Given the description of an element on the screen output the (x, y) to click on. 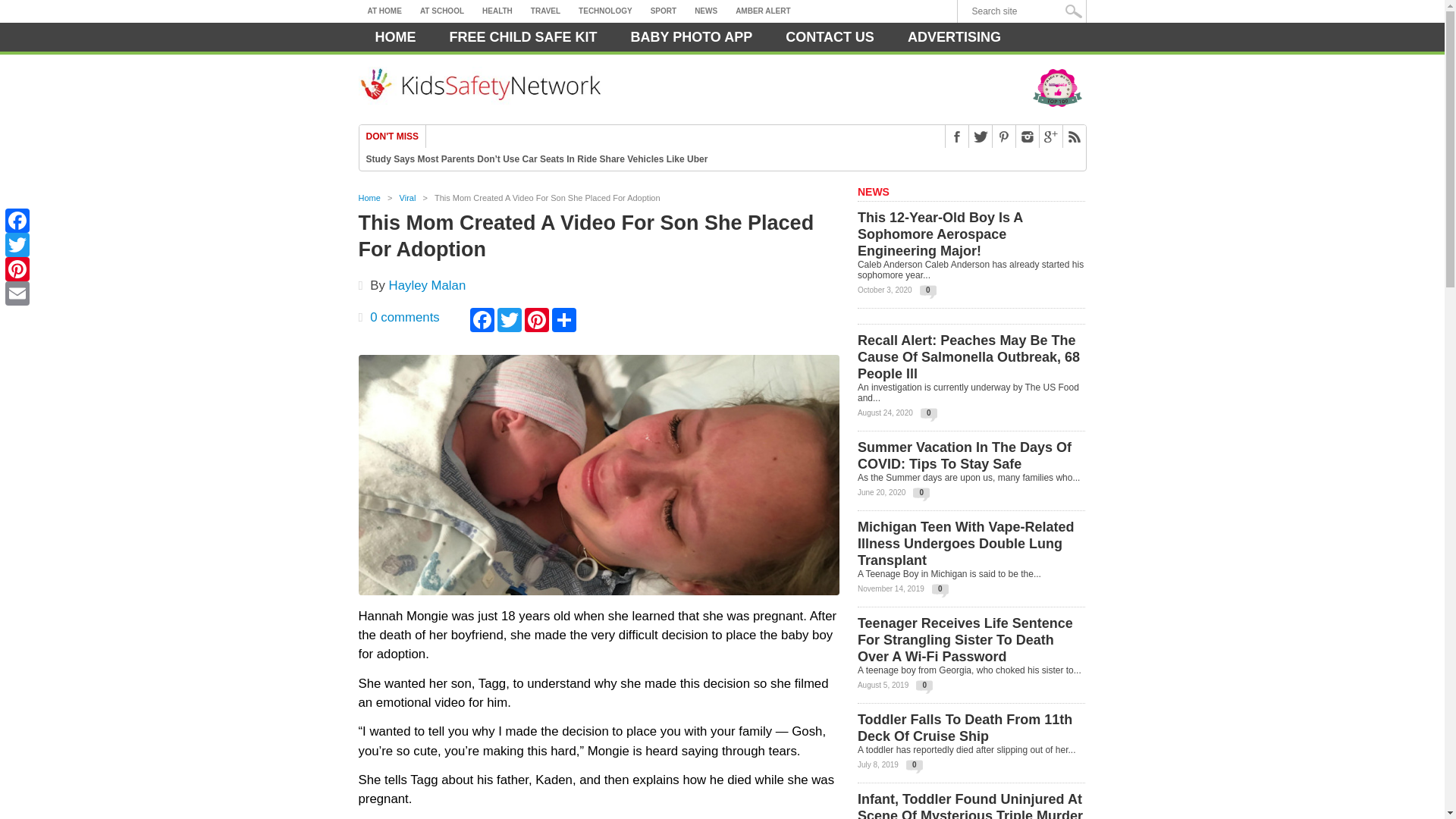
Search site (1024, 11)
AT HOME (384, 11)
NEWS (705, 11)
AMBER ALERT (762, 11)
Facebook (17, 220)
Email (17, 293)
Posts by Hayley Malan (426, 285)
SPORT (663, 11)
TECHNOLOGY (605, 11)
Home (395, 36)
